Given the description of an element on the screen output the (x, y) to click on. 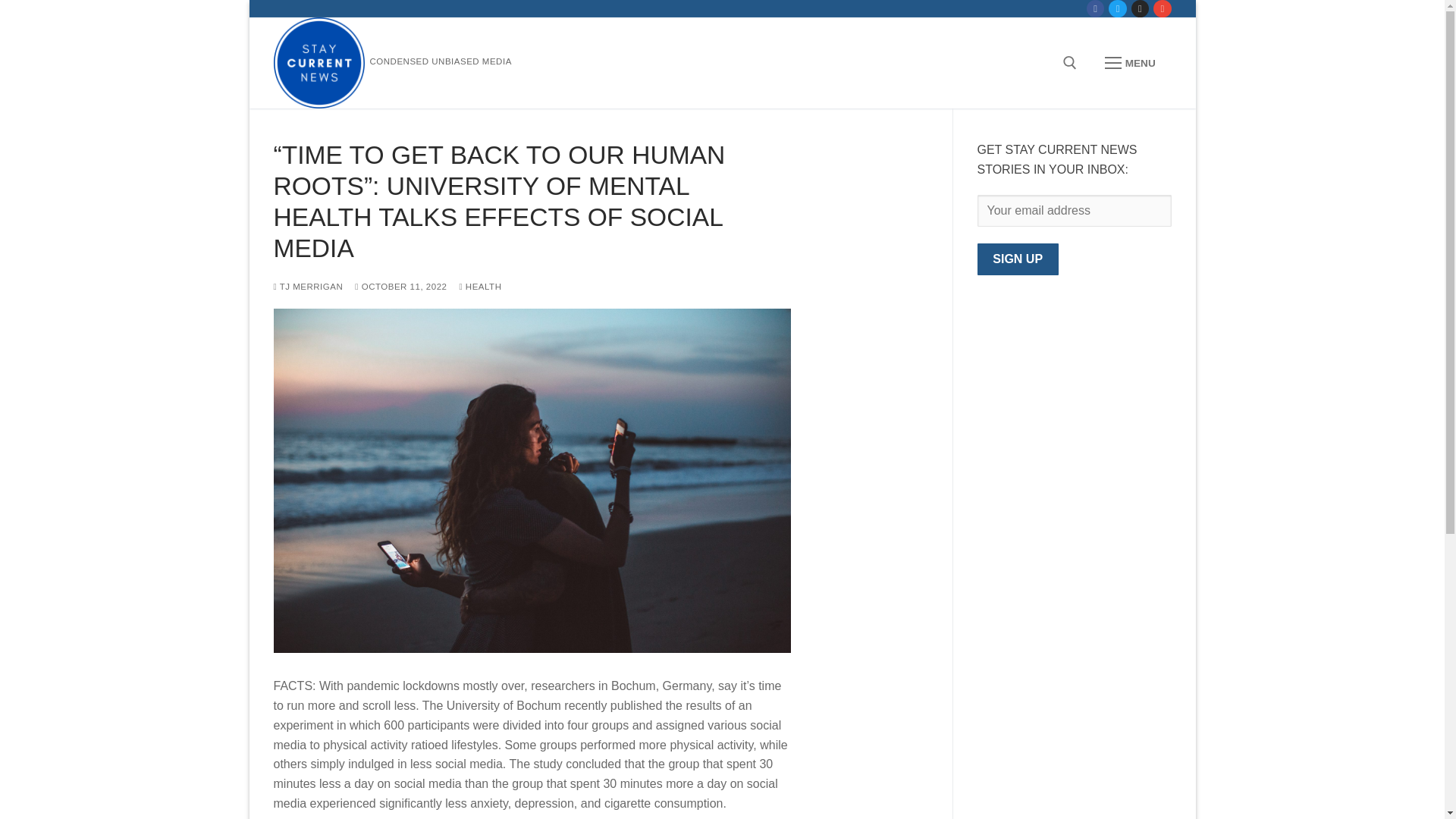
MENU (1129, 63)
Twitter (1117, 8)
Instagram (1139, 8)
Sign up (1017, 259)
Facebook (1095, 8)
OCTOBER 11, 2022 (400, 286)
HEALTH (479, 286)
Contact Us (1162, 8)
TJ MERRIGAN (307, 286)
Sign up (1017, 259)
